Given the description of an element on the screen output the (x, y) to click on. 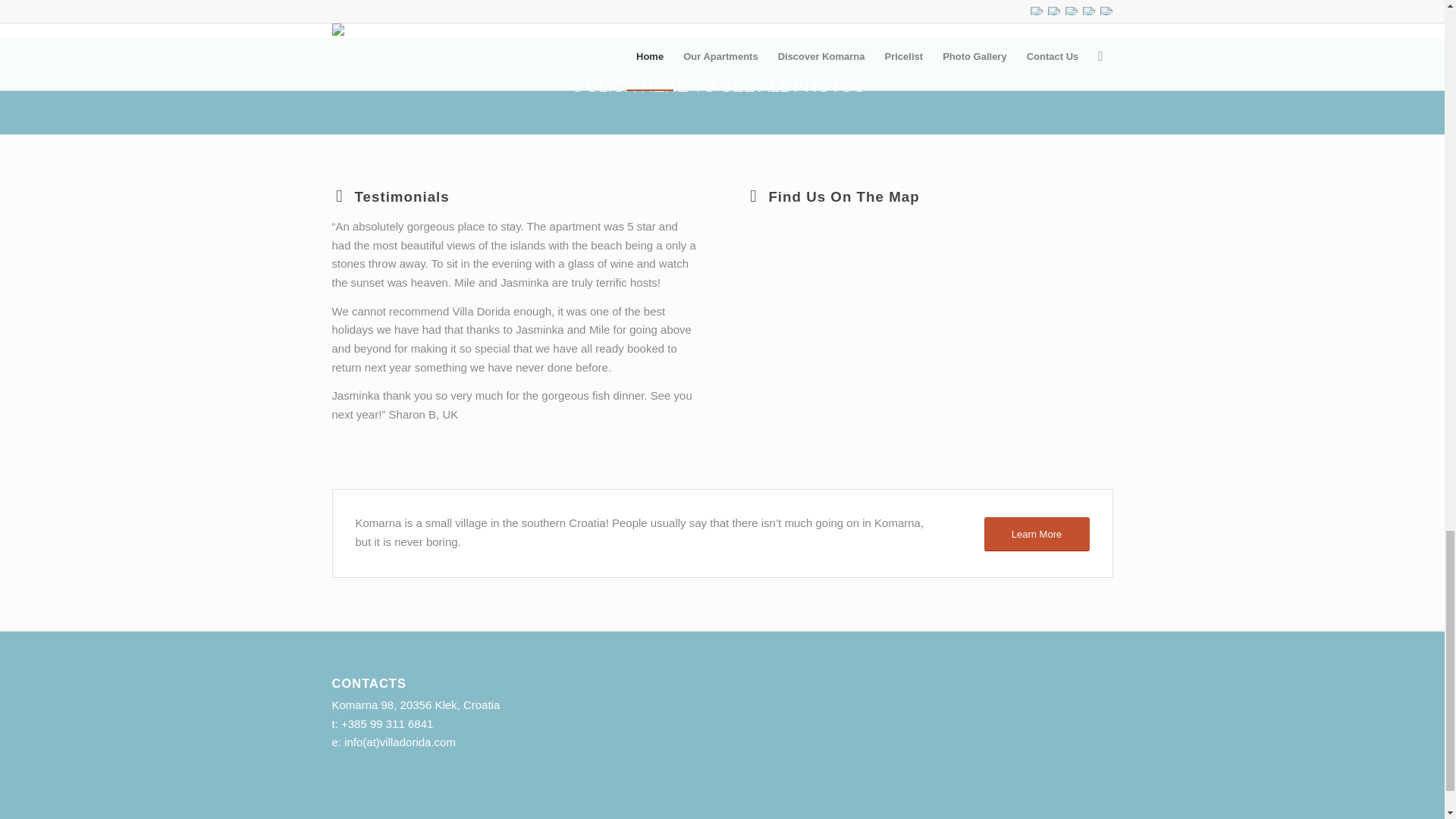
Learn More (1036, 533)
